Given the description of an element on the screen output the (x, y) to click on. 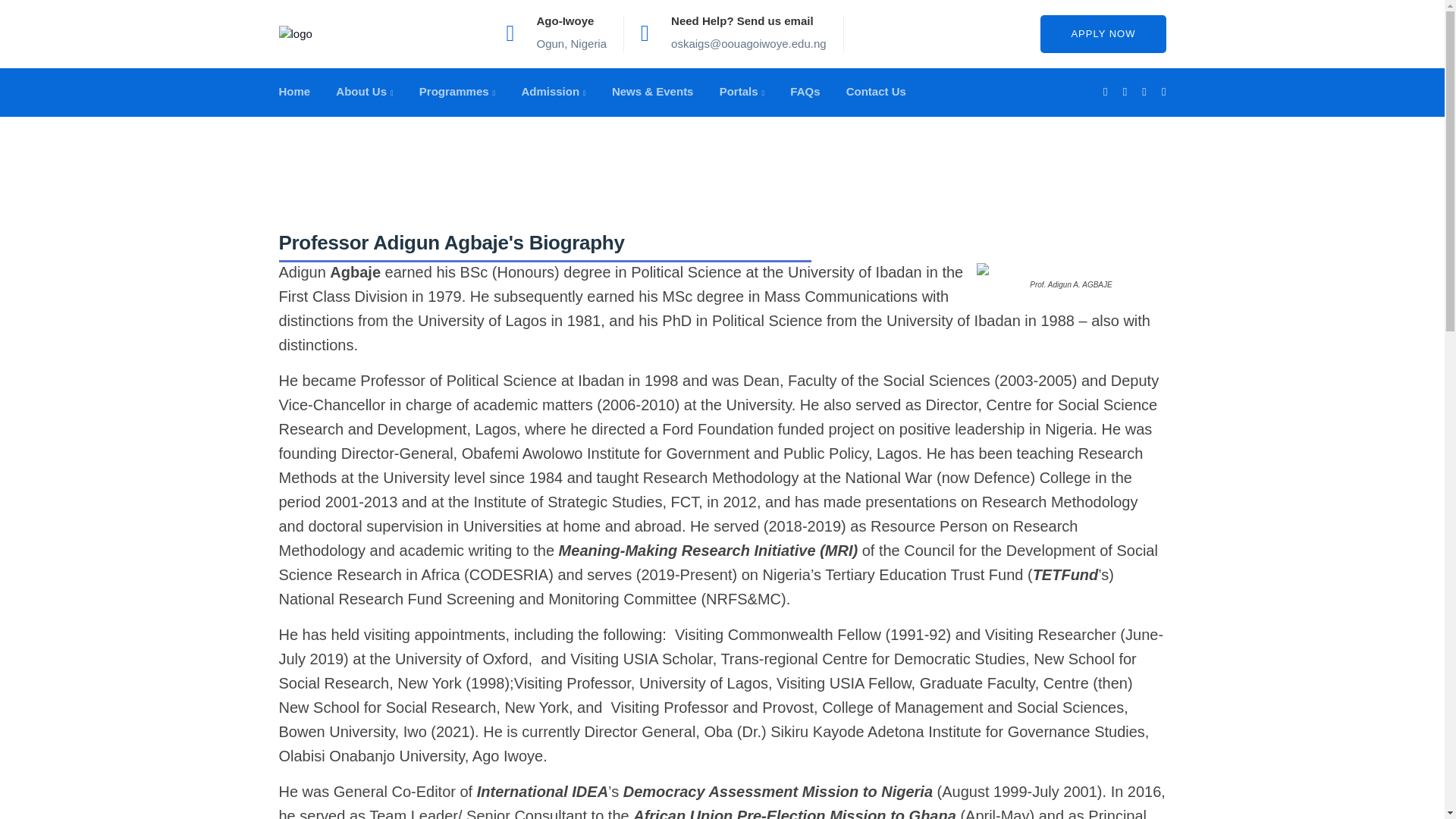
Contact Us (875, 91)
Admission (553, 91)
Programmes (457, 91)
Programmes (457, 91)
About Us (364, 91)
Portals (742, 91)
APPLY NOW (1103, 34)
About Us (364, 91)
